Given the description of an element on the screen output the (x, y) to click on. 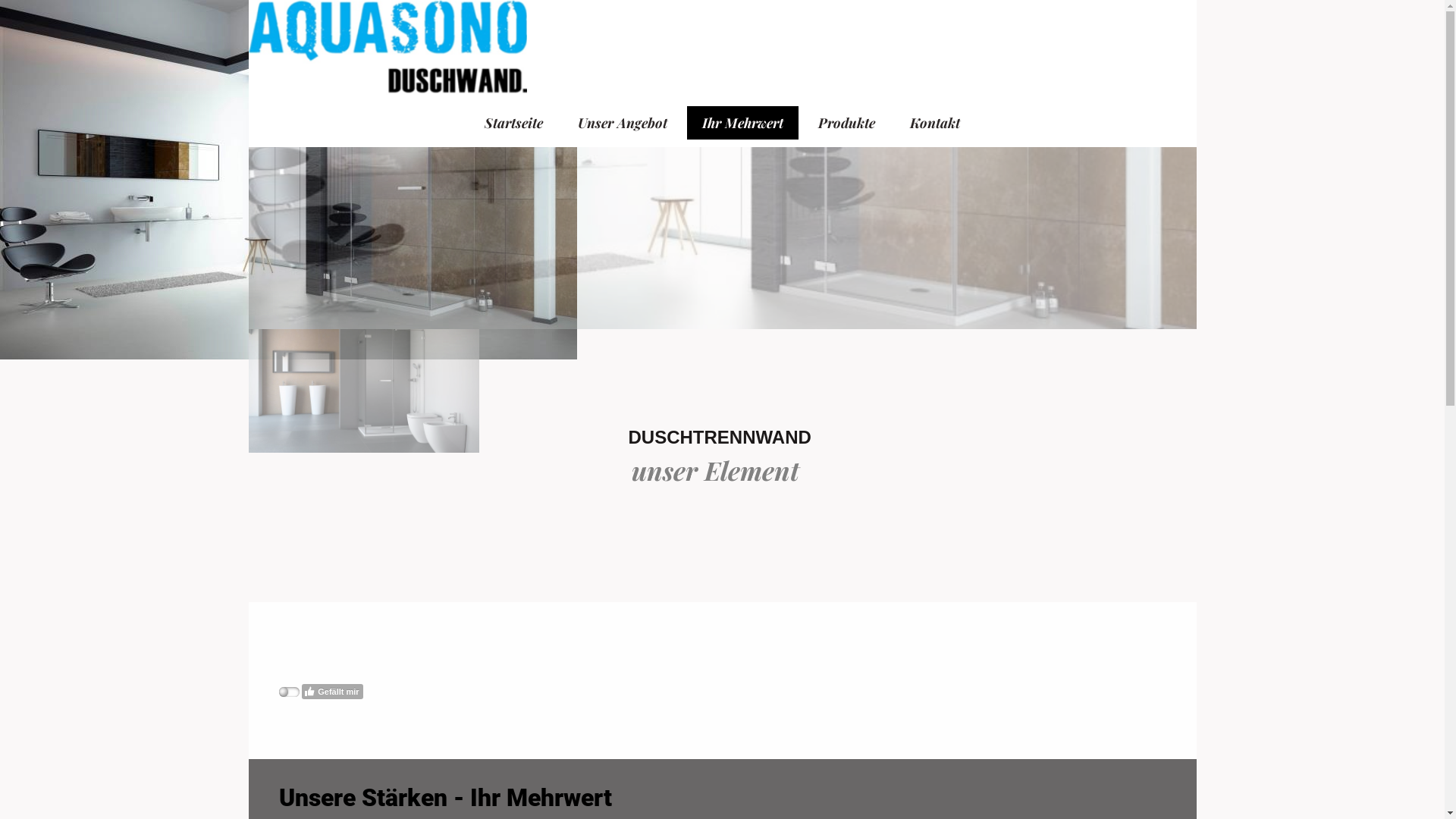
Produkte Element type: text (846, 122)
Ihr Mehrwert Element type: text (742, 122)
Startseite Element type: text (513, 122)
Kontakt Element type: text (934, 122)
Unser Angebot Element type: text (622, 122)
